Given the description of an element on the screen output the (x, y) to click on. 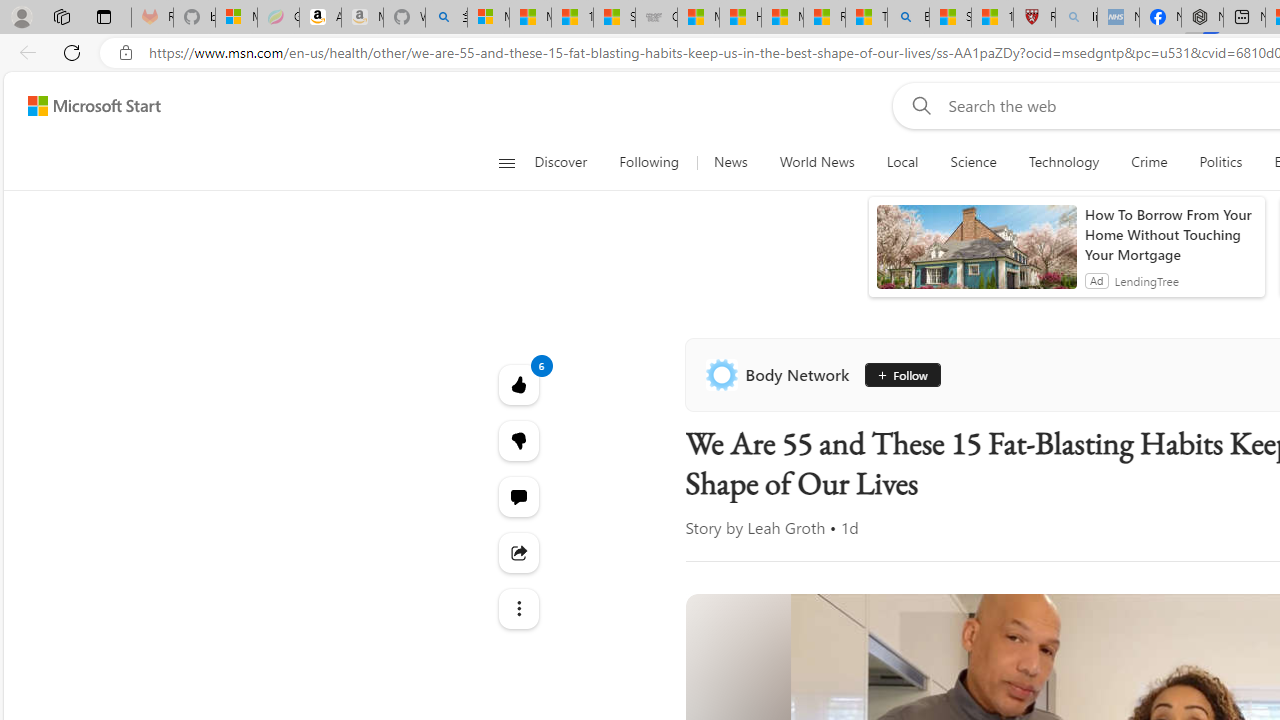
6 Like (517, 384)
Follow (895, 374)
Share this story (517, 552)
